Given the description of an element on the screen output the (x, y) to click on. 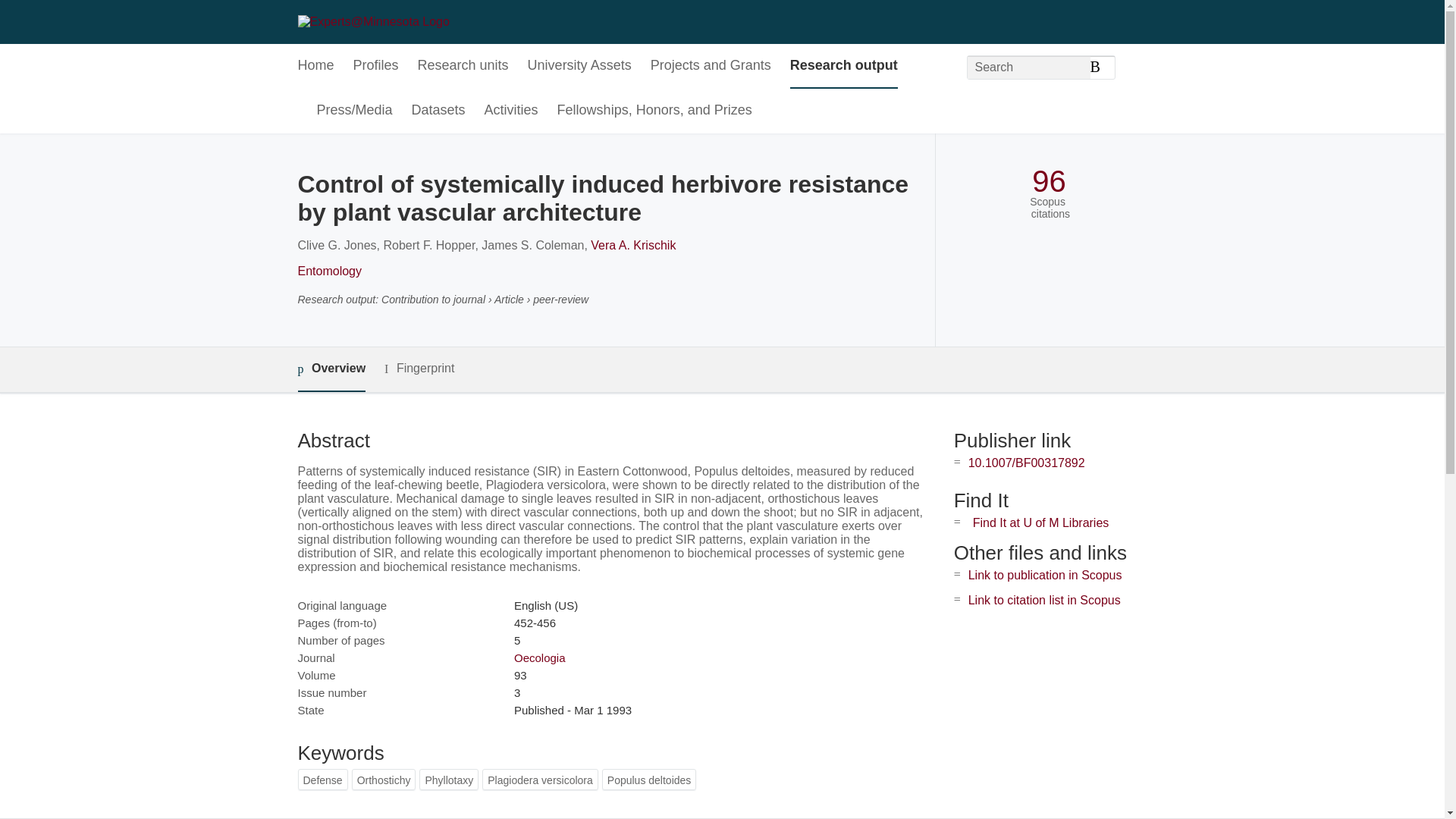
Overview (331, 369)
Projects and Grants (710, 66)
University Assets (579, 66)
Find It at U of M Libraries (1040, 522)
Research output (844, 66)
Vera A. Krischik (633, 245)
Profiles (375, 66)
Fingerprint (419, 368)
Fellowships, Honors, and Prizes (654, 110)
